Given the description of an element on the screen output the (x, y) to click on. 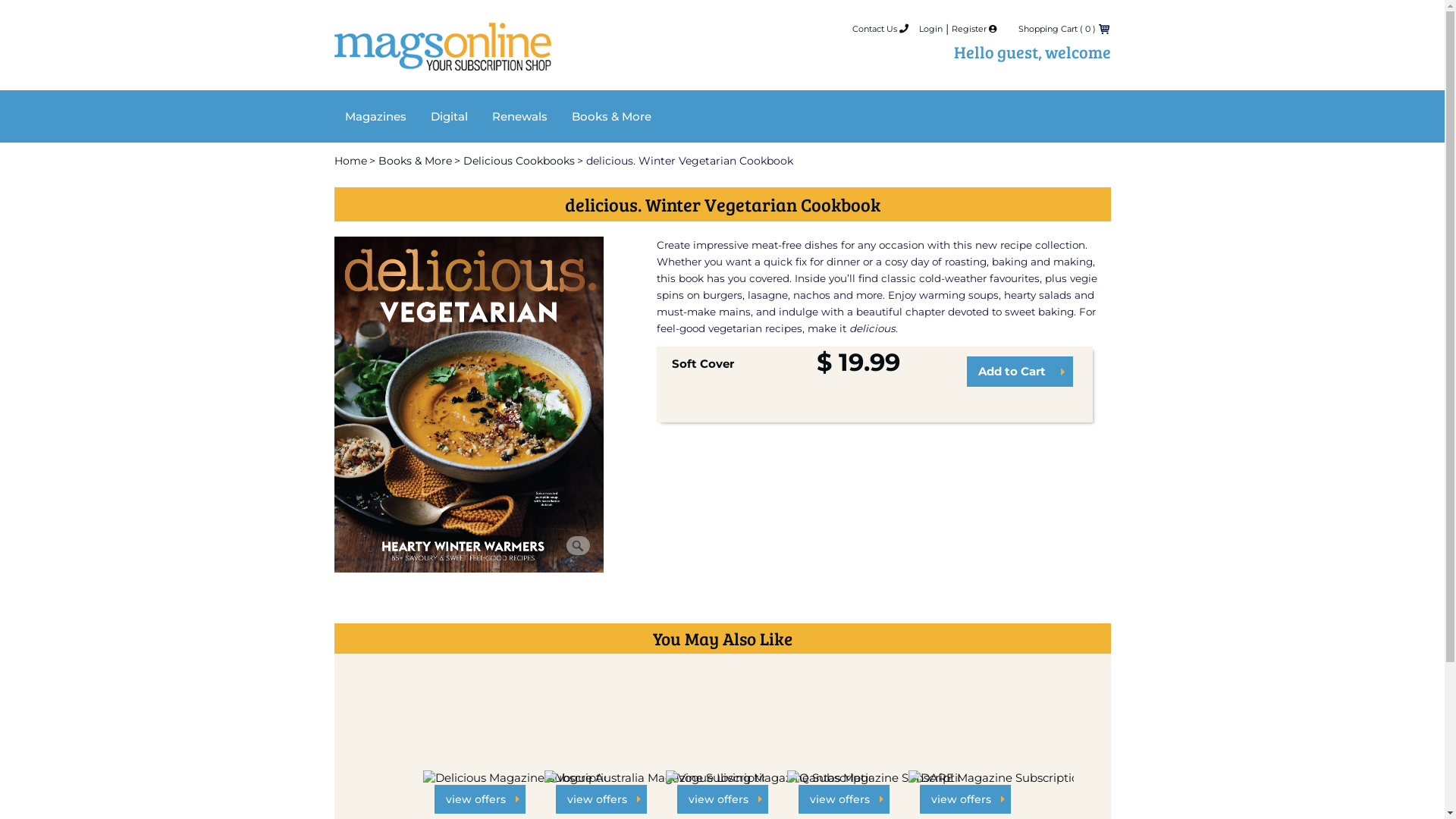
Contact Us Element type: text (880, 28)
Login Element type: text (930, 28)
 view offers Element type: text (478, 798)
Delicious Cookbooks Element type: text (518, 160)
Books & More Element type: text (414, 160)
Home Element type: hover (441, 58)
Digital Element type: text (448, 116)
 view offers Element type: text (721, 798)
 view offers Element type: text (964, 798)
 view offers Element type: text (600, 798)
Add to Cart Element type: text (1019, 371)
Books & More Element type: text (611, 116)
Renewals Element type: text (518, 116)
Magazines Element type: text (374, 116)
Register  Element type: text (973, 28)
 view offers Element type: text (842, 798)
Shopping Cart ( 0 ) Element type: text (1056, 28)
Home Element type: text (349, 160)
